Given the description of an element on the screen output the (x, y) to click on. 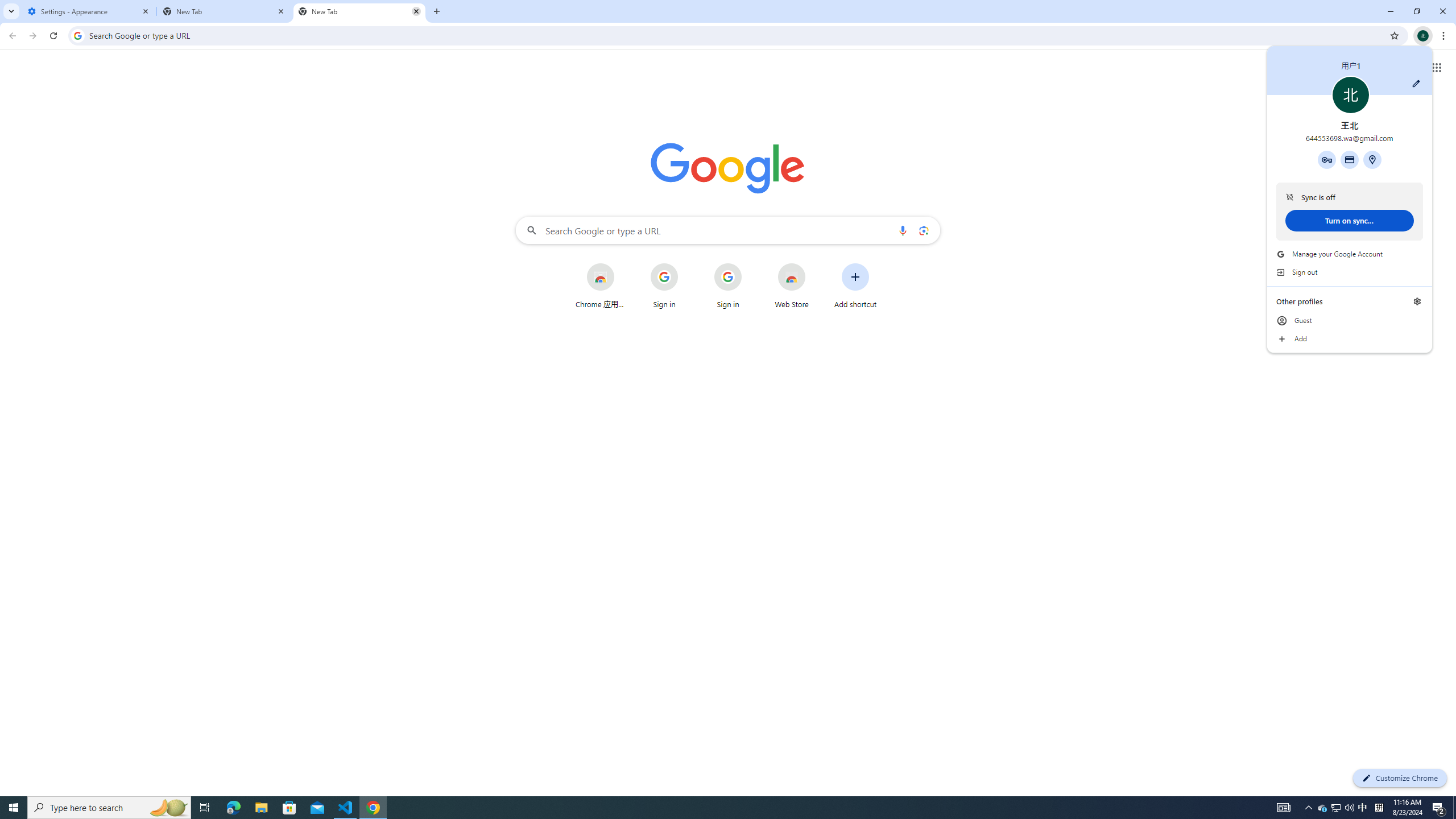
AutomationID: 4105 (1283, 807)
Customize profile (1415, 83)
Addresses and more (1371, 159)
Action Center, 2 new notifications (1439, 807)
Microsoft Edge (1335, 807)
Tray Input Indicator - Chinese (Simplified, China) (1362, 807)
Running applications (233, 807)
Microsoft Store (1378, 807)
